Given the description of an element on the screen output the (x, y) to click on. 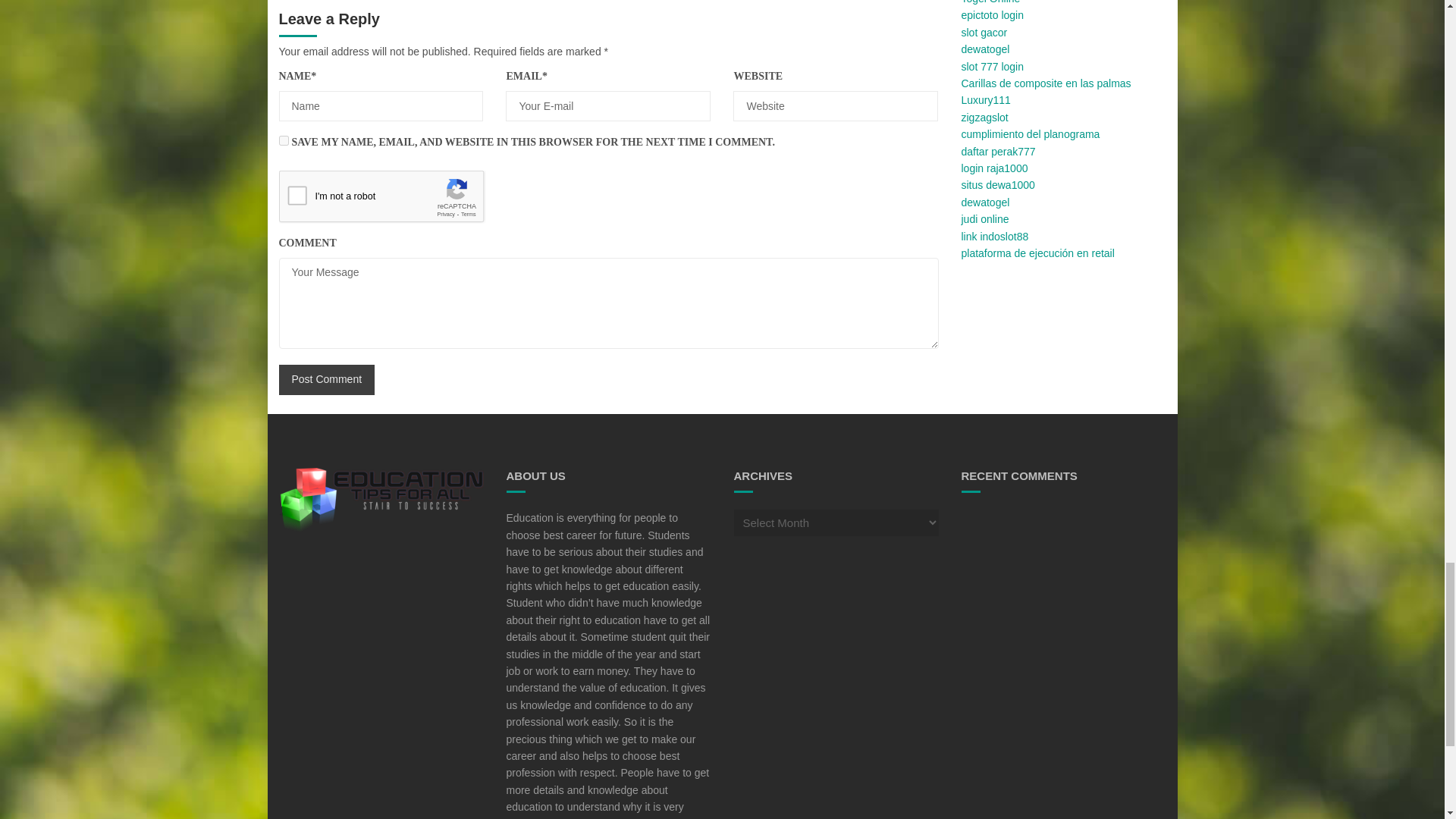
yes (283, 140)
reCAPTCHA (394, 200)
Post Comment (327, 379)
